Given the description of an element on the screen output the (x, y) to click on. 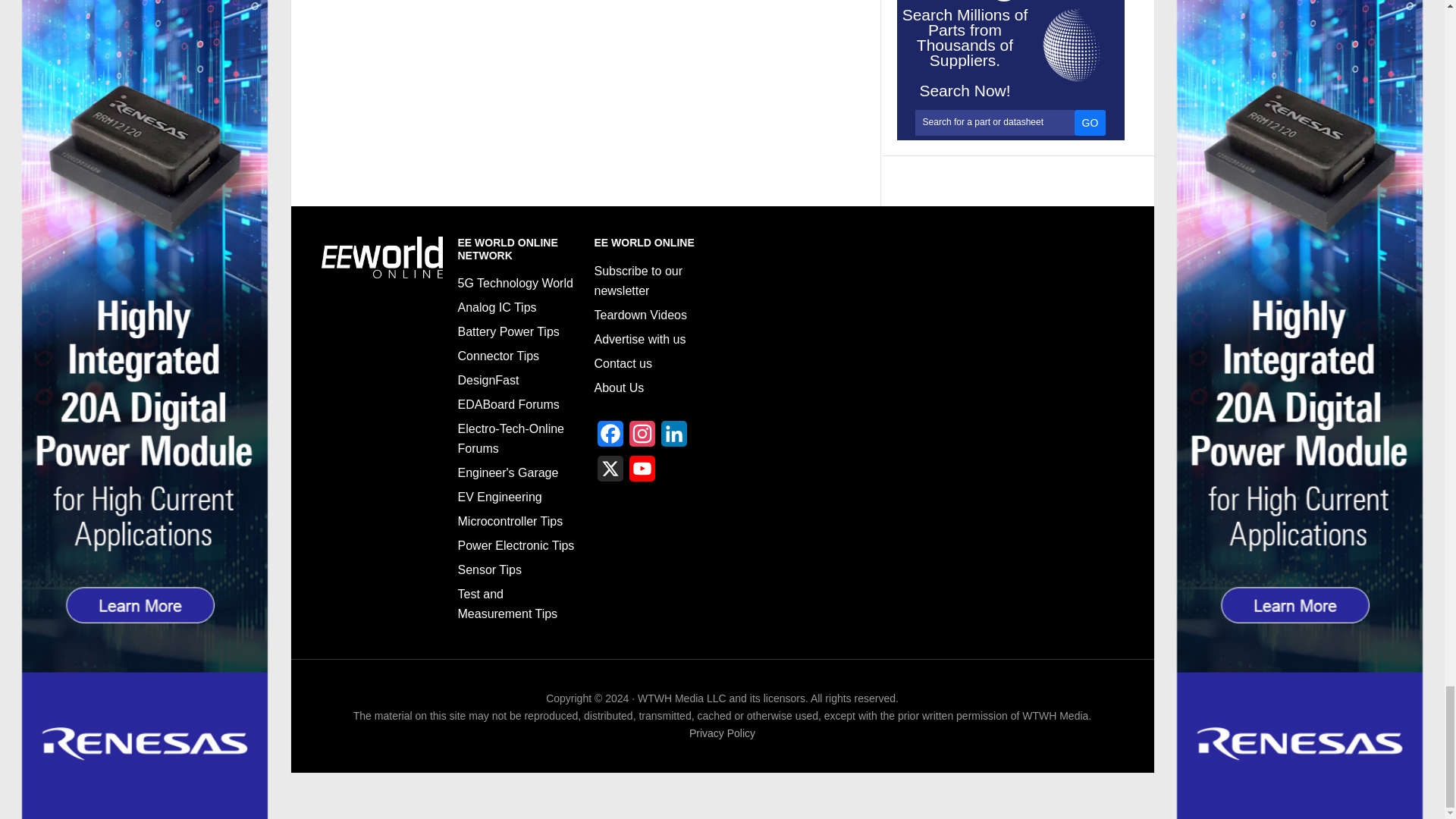
Instagram (642, 437)
LinkedIn Company (674, 437)
YouTube Channel (642, 472)
Facebook (610, 437)
GO (1090, 122)
X (610, 472)
